Given the description of an element on the screen output the (x, y) to click on. 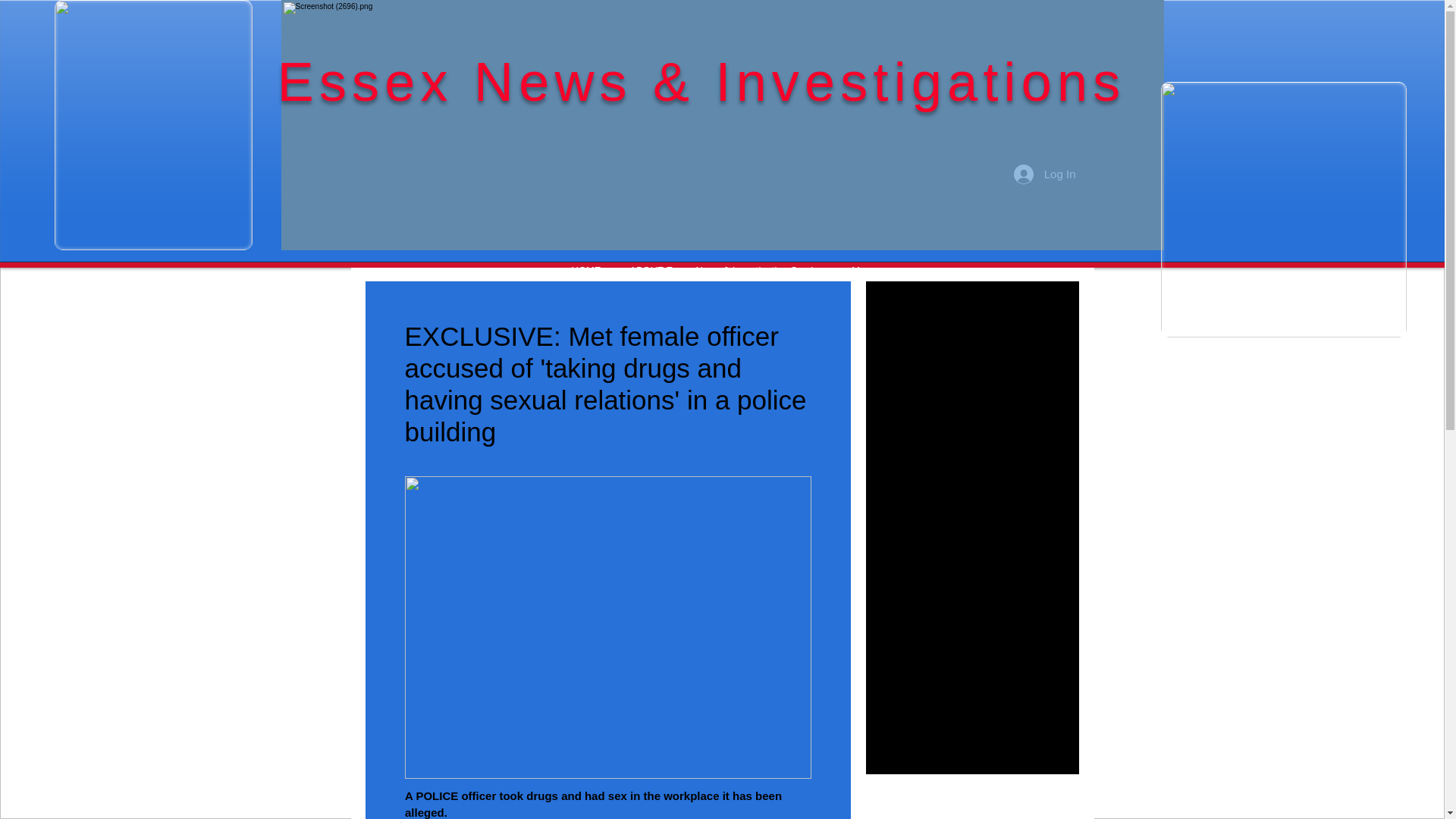
HOME (585, 270)
Log In (1044, 173)
